Given the description of an element on the screen output the (x, y) to click on. 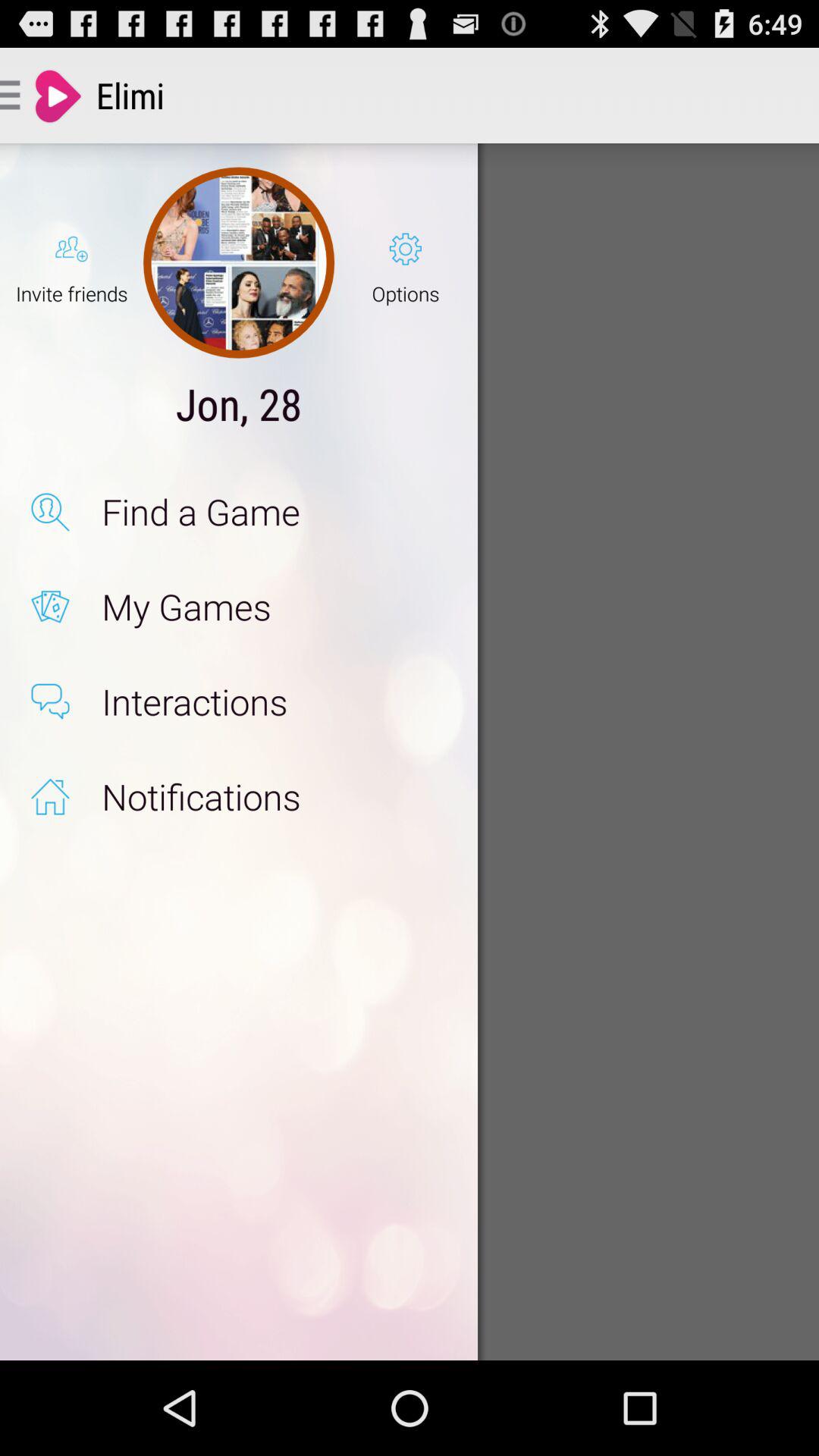
press button to the right of invite friends button (238, 262)
